Given the description of an element on the screen output the (x, y) to click on. 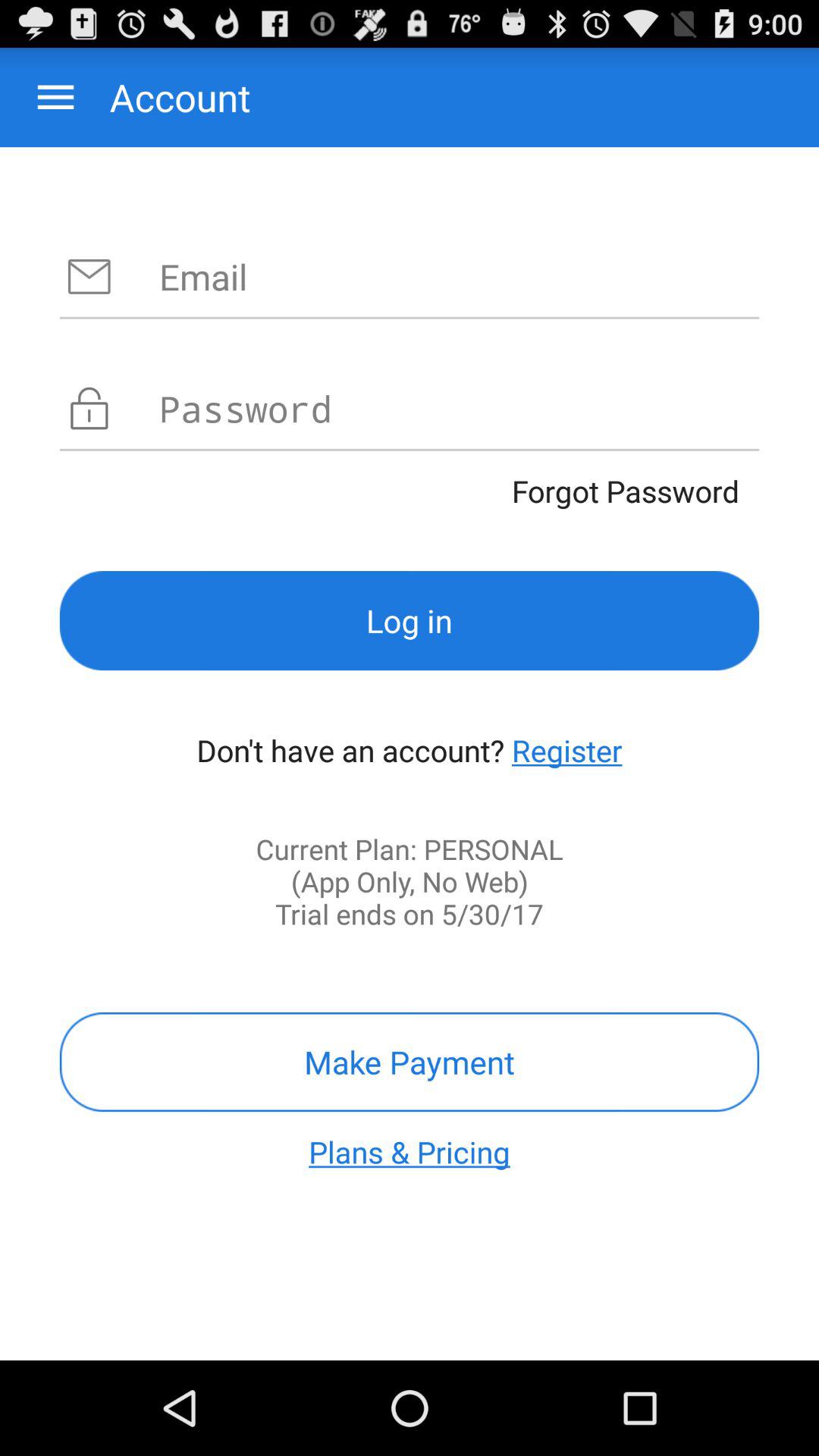
choose icon next to don t have icon (566, 750)
